Given the description of an element on the screen output the (x, y) to click on. 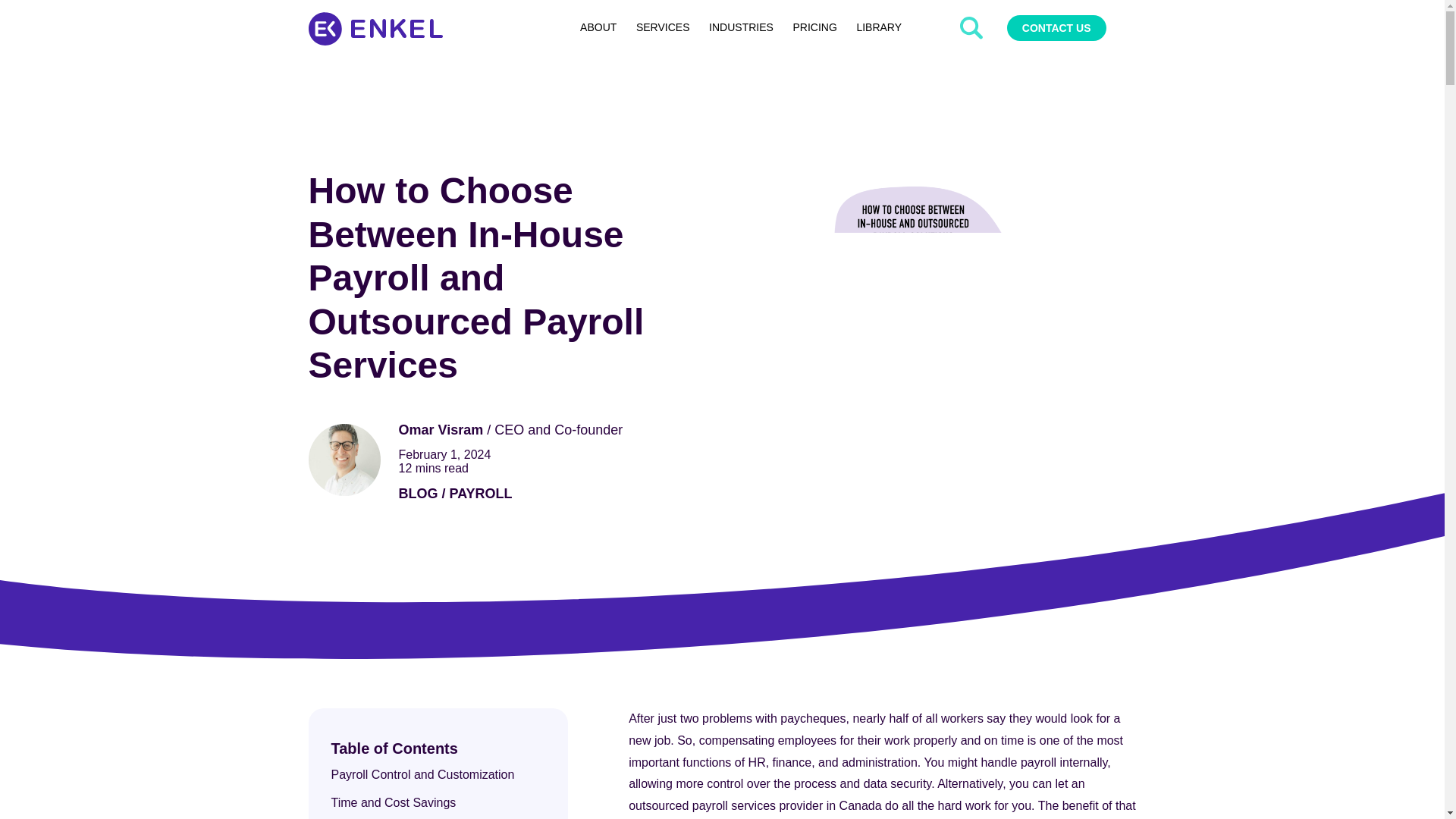
Services (662, 27)
LIBRARY (879, 27)
PAYROLL (480, 493)
Industries (740, 27)
SERVICES (662, 27)
Time and Cost Savings (392, 802)
ABOUT (598, 27)
About (598, 27)
Payroll Control and Customization  (423, 774)
INDUSTRIES (740, 27)
